Given the description of an element on the screen output the (x, y) to click on. 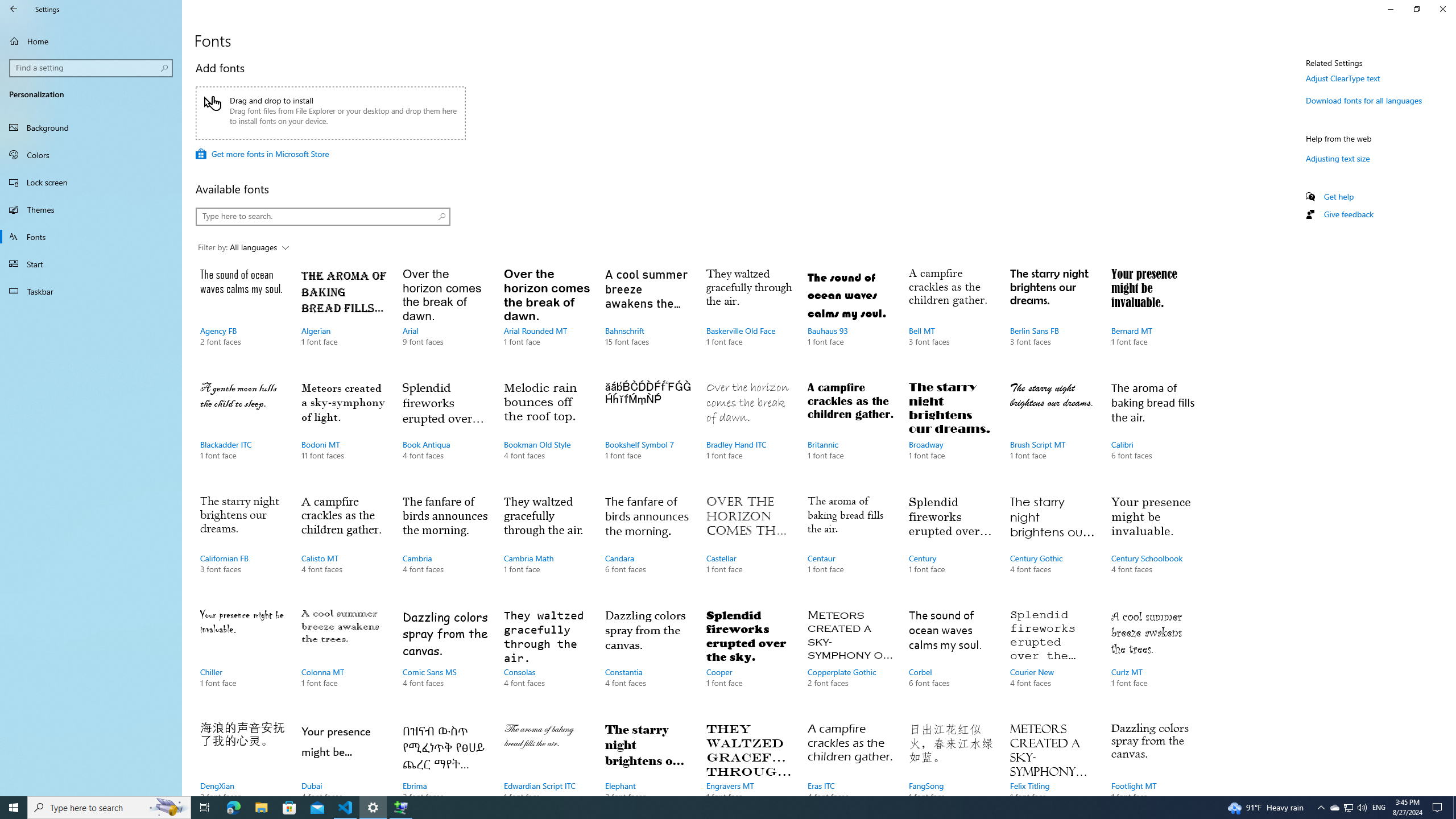
Search box, Find a setting (91, 67)
Bradley Hand ITC, 1 font face (748, 431)
Centaur, 1 font face (850, 545)
Cooper, 1 font face (748, 659)
Comic Sans MS, 4 font faces (445, 659)
Themes (91, 208)
Britannic, 1 font face (850, 431)
Berlin Sans FB, 3 font faces (1052, 318)
Castellar, 1 font face (748, 545)
Chiller, 1 font face (243, 659)
Arial, 9 font faces (445, 318)
